Given the description of an element on the screen output the (x, y) to click on. 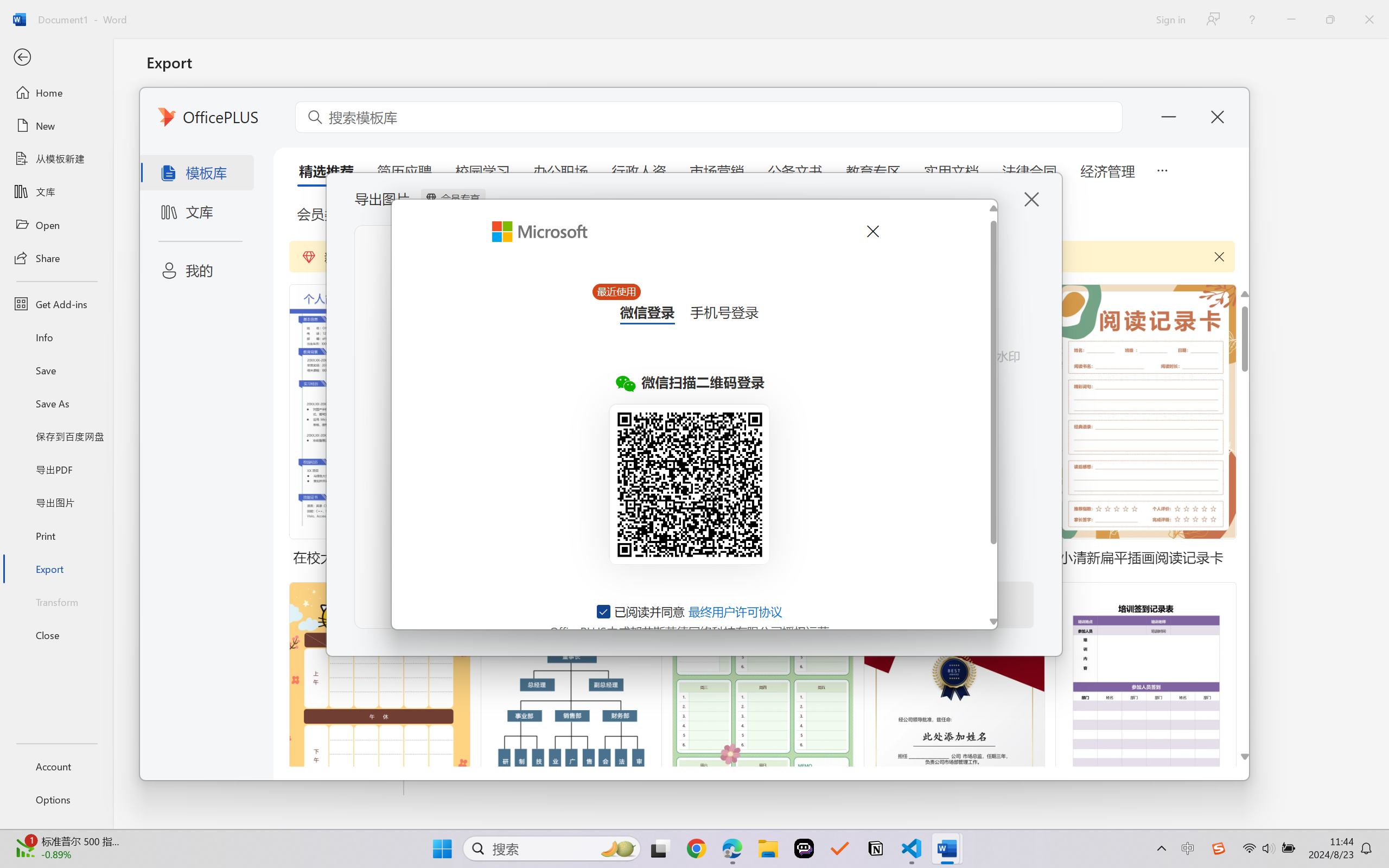
Change File Type (275, 158)
